Given the description of an element on the screen output the (x, y) to click on. 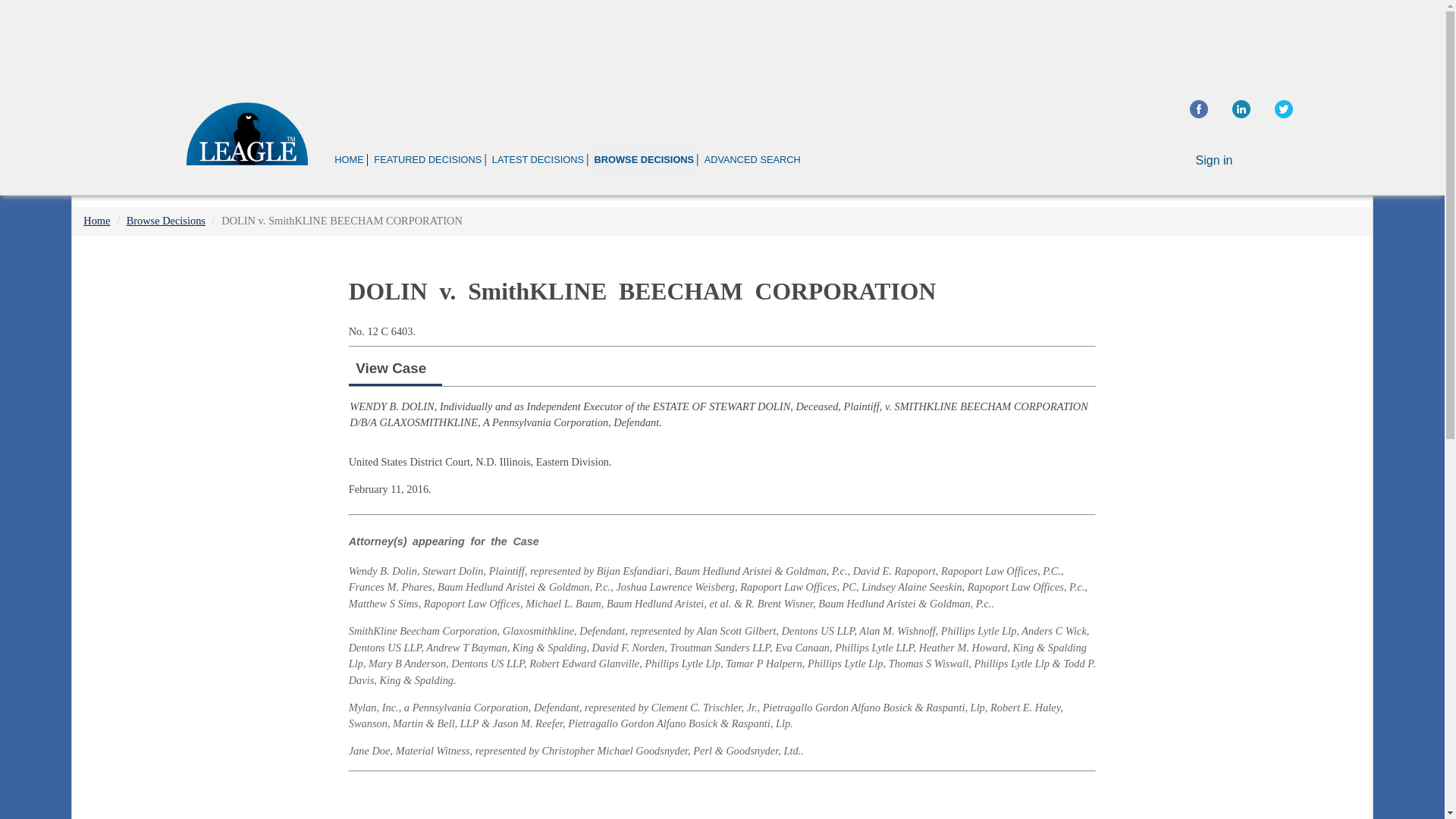
Home (96, 220)
ADVANCED SEARCH (752, 159)
FEATURED DECISIONS (427, 159)
HOME (348, 159)
Advertisement (722, 798)
Advertisement (721, 41)
BROWSE DECISIONS (643, 159)
View Case (390, 367)
LATEST DECISIONS (537, 159)
Sign in (1214, 160)
